Given the description of an element on the screen output the (x, y) to click on. 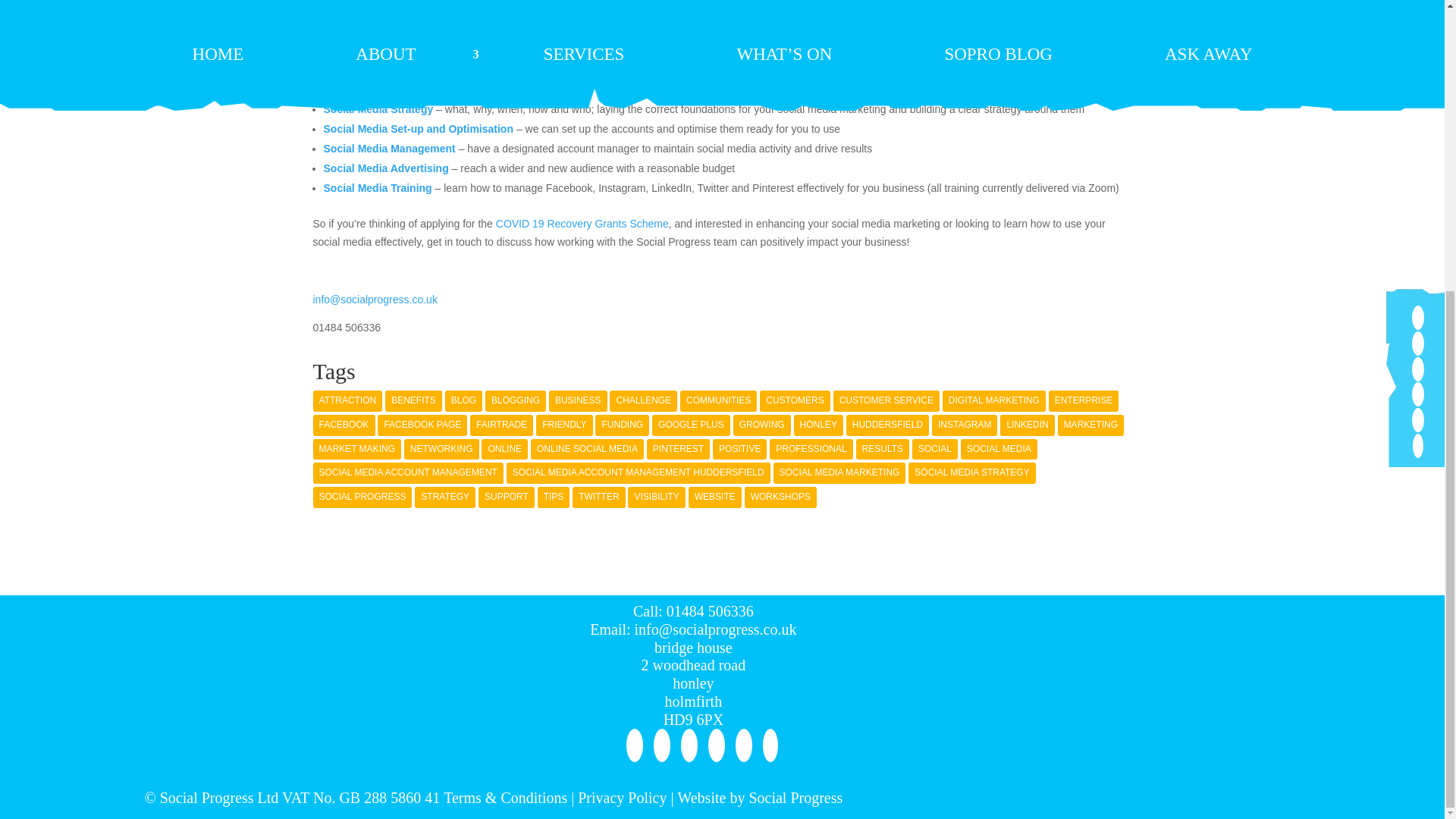
GOOGLE PLUS (691, 424)
GROWING (761, 424)
BUSINESS (577, 400)
CUSTOMERS (794, 400)
Pinterest (711, 745)
COMMUNITIES (718, 400)
FACEBOOK (343, 424)
Instagram (738, 745)
COVID 19 Recovery Grants Scheme (582, 223)
Social Media Advertising (387, 168)
